Given the description of an element on the screen output the (x, y) to click on. 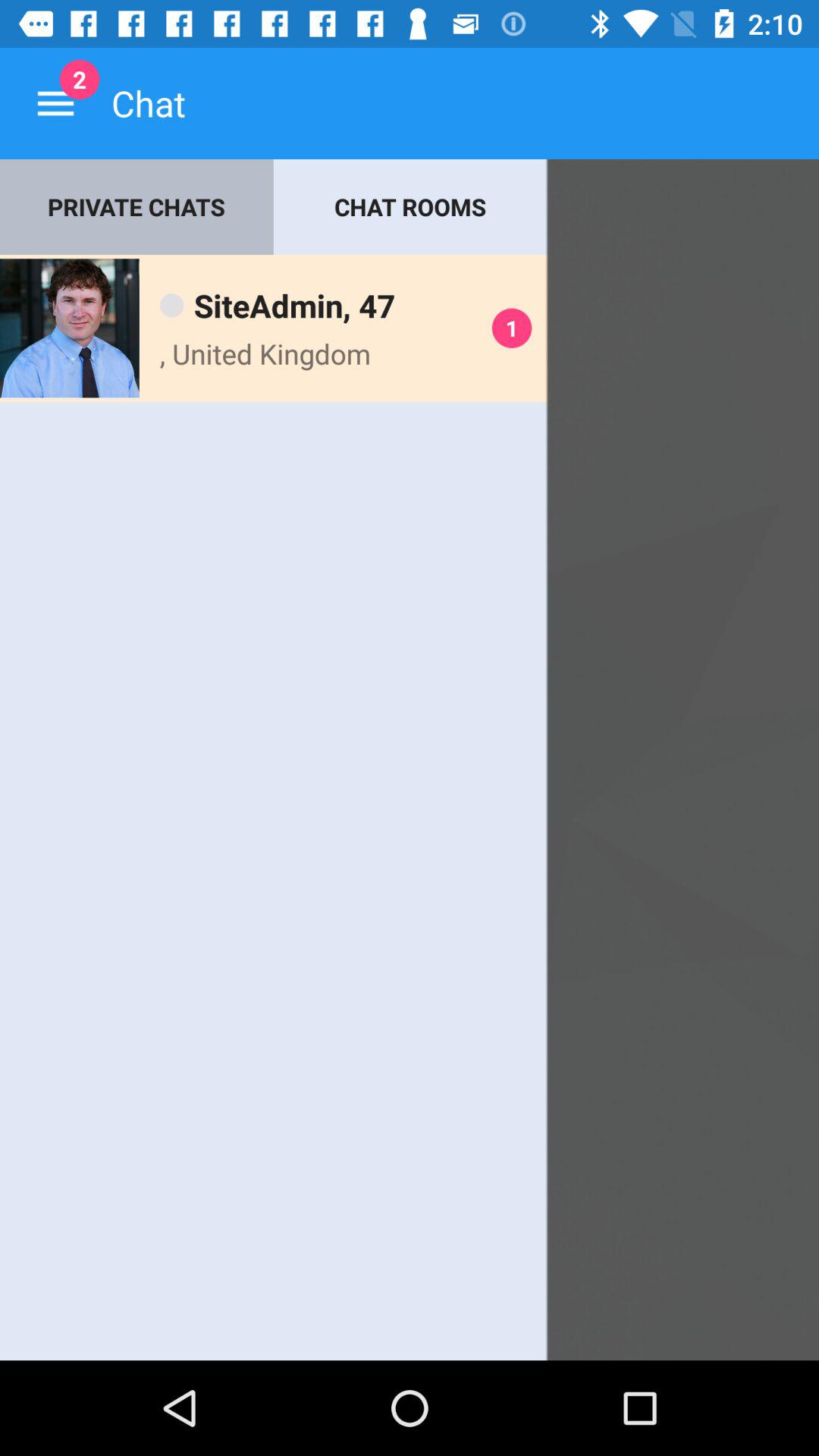
turn on the icon above private chats item (55, 103)
